Given the description of an element on the screen output the (x, y) to click on. 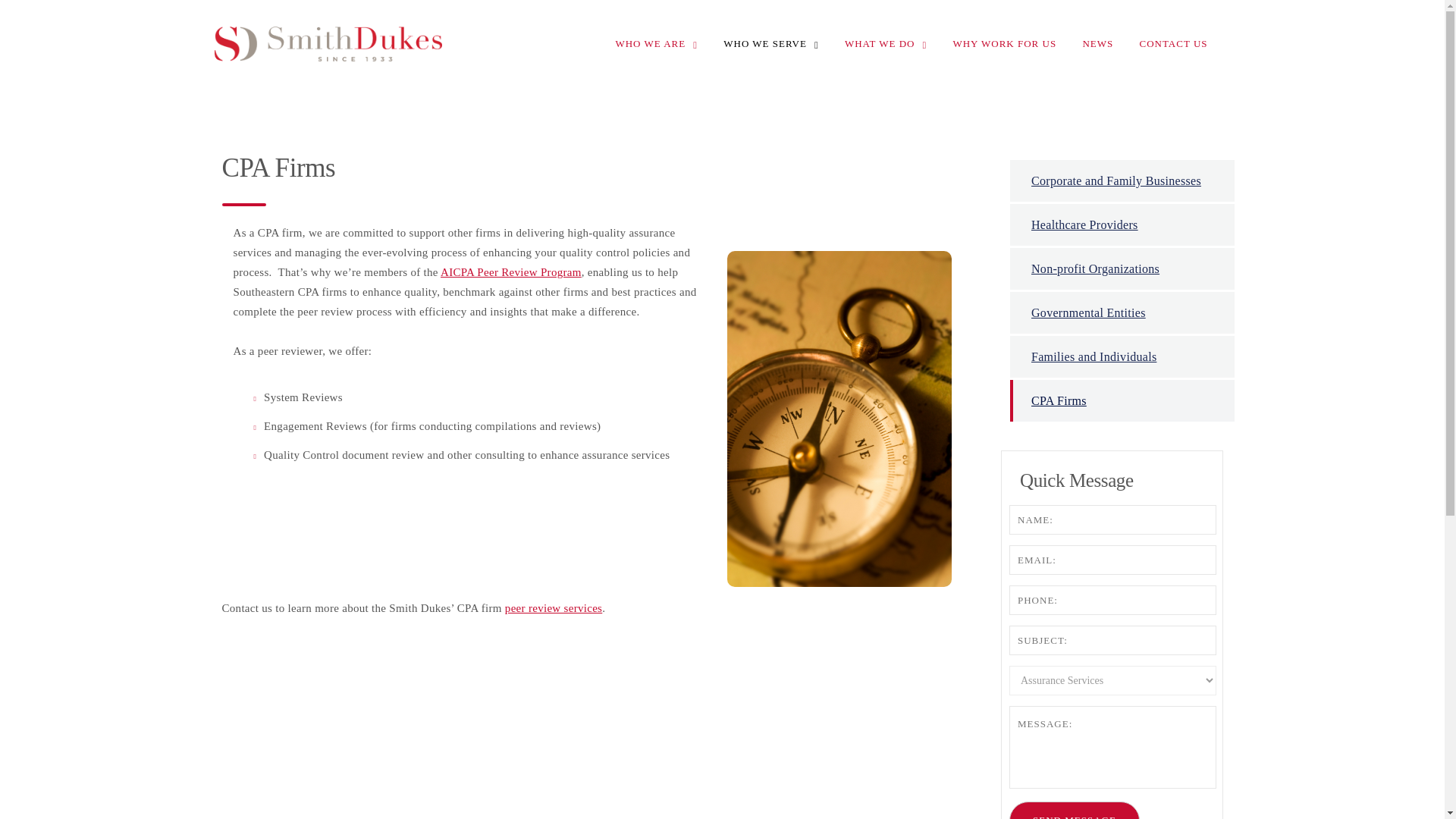
Governmental Entities (1122, 312)
peer review services (553, 607)
Families and Individuals (1122, 356)
WHO WE ARE (655, 43)
Send Message (1074, 810)
WHAT WE DO (885, 43)
WHO WE SERVE (770, 43)
Peer Review (553, 607)
Non-profit Organizations (1122, 268)
Corporate and Family Businesses (1122, 180)
CPA Firms (1122, 400)
NEWS (1097, 42)
Healthcare Providers (1122, 224)
Peer Review (510, 272)
WHY WORK FOR US (1004, 42)
